Given the description of an element on the screen output the (x, y) to click on. 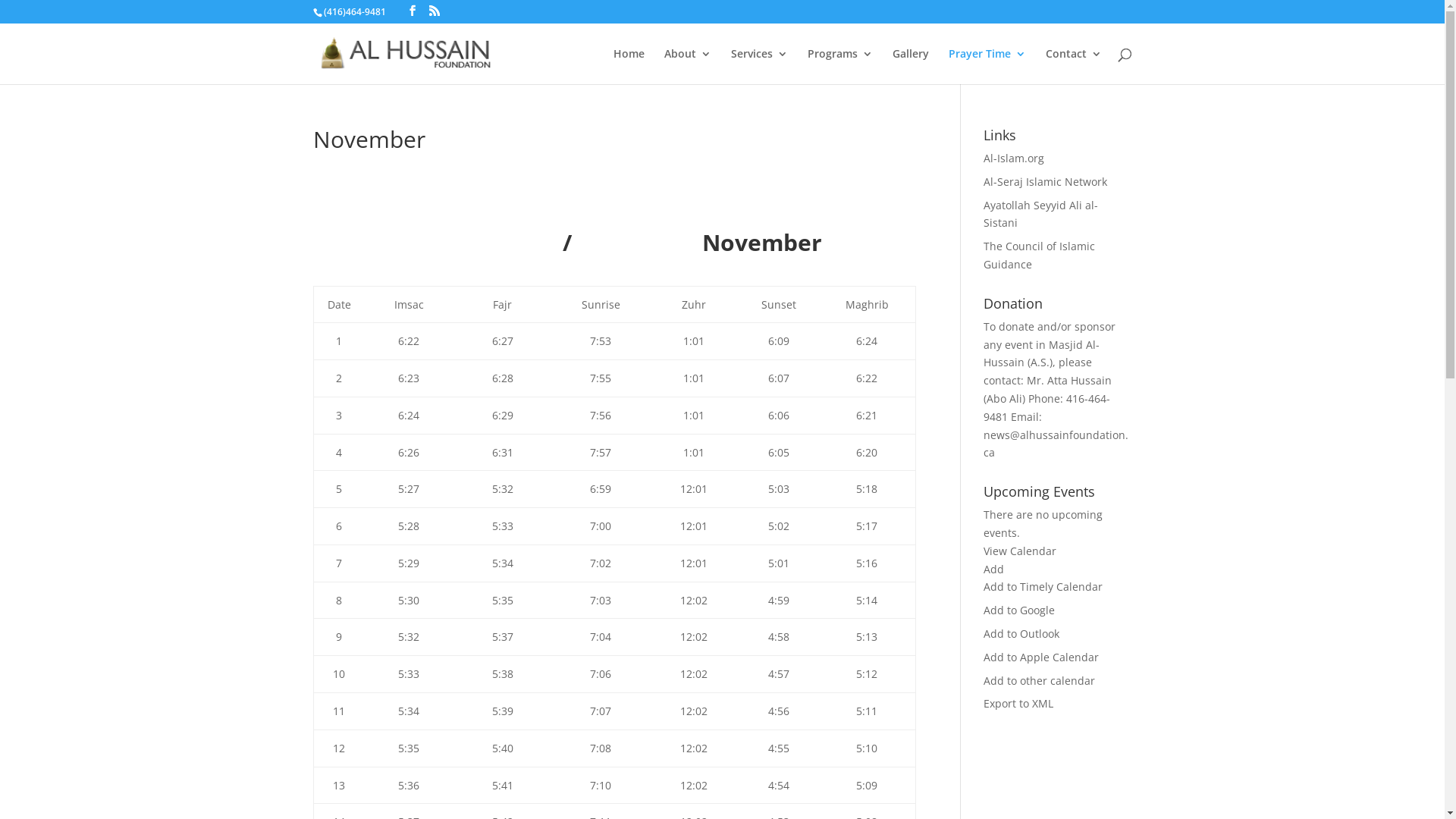
Programs Element type: text (839, 66)
Add to Google Element type: text (1018, 609)
Al-Islam.org Element type: text (1013, 157)
Contact Element type: text (1072, 66)
Add to other calendar Element type: text (1039, 680)
Ayatollah Seyyid Ali al-Sistani Element type: text (1040, 213)
Prayer Time Element type: text (986, 66)
Gallery Element type: text (909, 66)
The Council of Islamic Guidance Element type: text (1039, 254)
About Element type: text (687, 66)
Al-Seraj Islamic Network Element type: text (1045, 181)
Add to Apple Calendar Element type: text (1040, 656)
View Calendar Element type: text (1019, 550)
Add to Timely Calendar Element type: text (1042, 586)
Services Element type: text (759, 66)
Export to XML Element type: text (1018, 703)
Add to Outlook Element type: text (1021, 633)
Home Element type: text (627, 66)
